Given the description of an element on the screen output the (x, y) to click on. 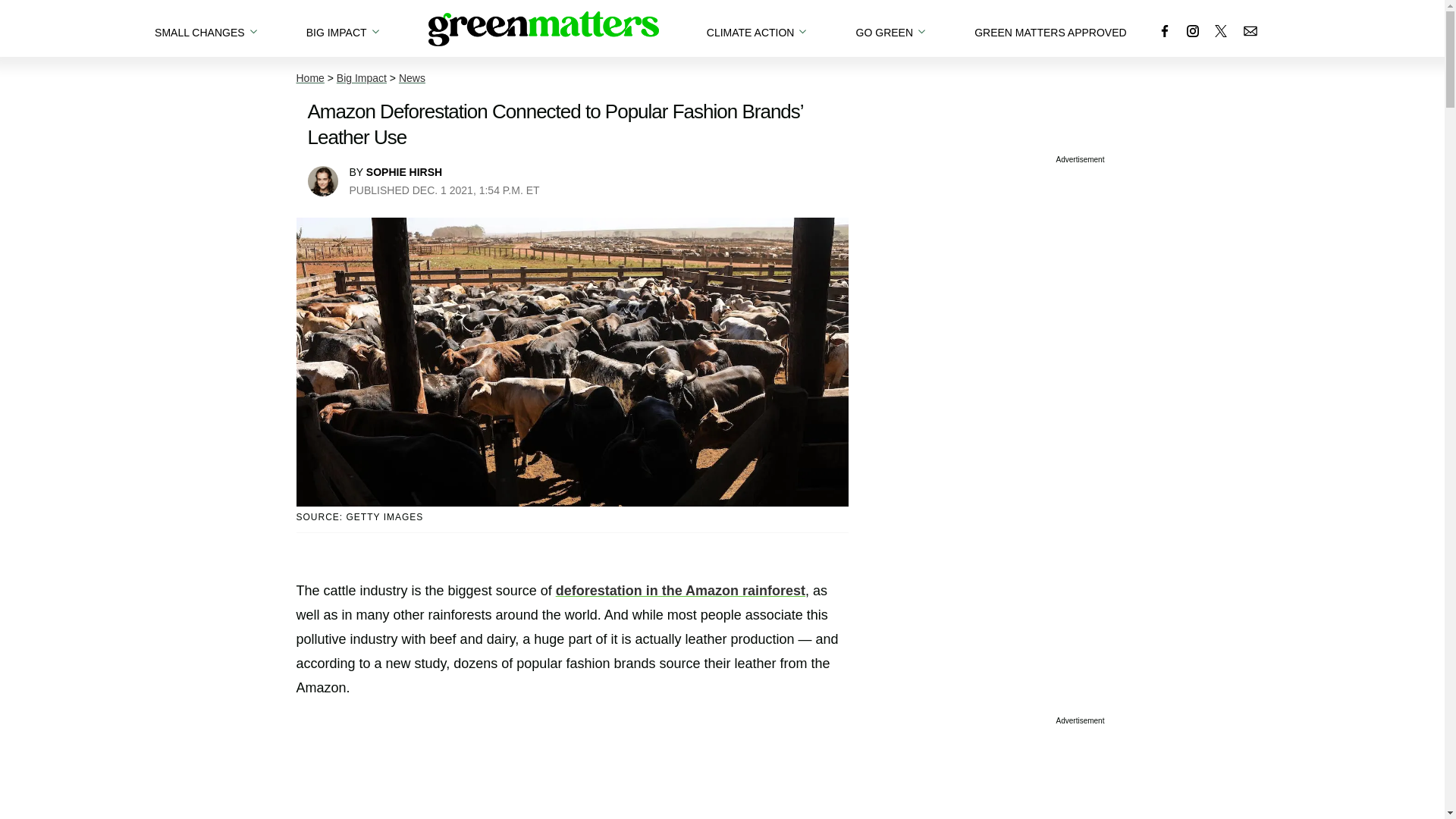
GREEN MATTERS APPROVED (1049, 27)
LINK TO FACEBOOK (1164, 30)
LINK TO INSTAGRAM (1192, 30)
LINK TO X (1220, 30)
LINK TO EMAIL SUBSCRIBE (1250, 30)
